Given the description of an element on the screen output the (x, y) to click on. 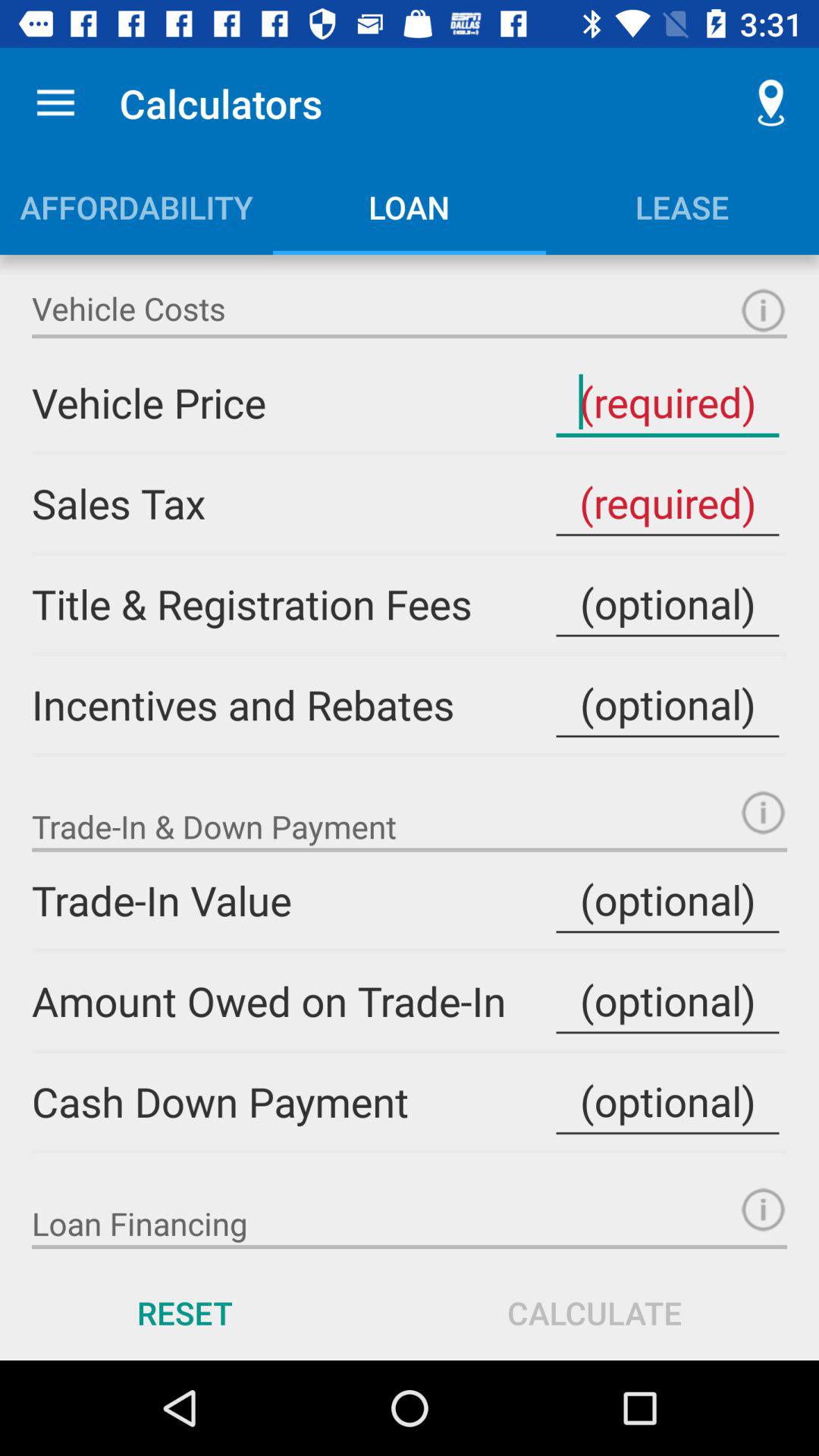
write down cash payment (667, 1101)
